Given the description of an element on the screen output the (x, y) to click on. 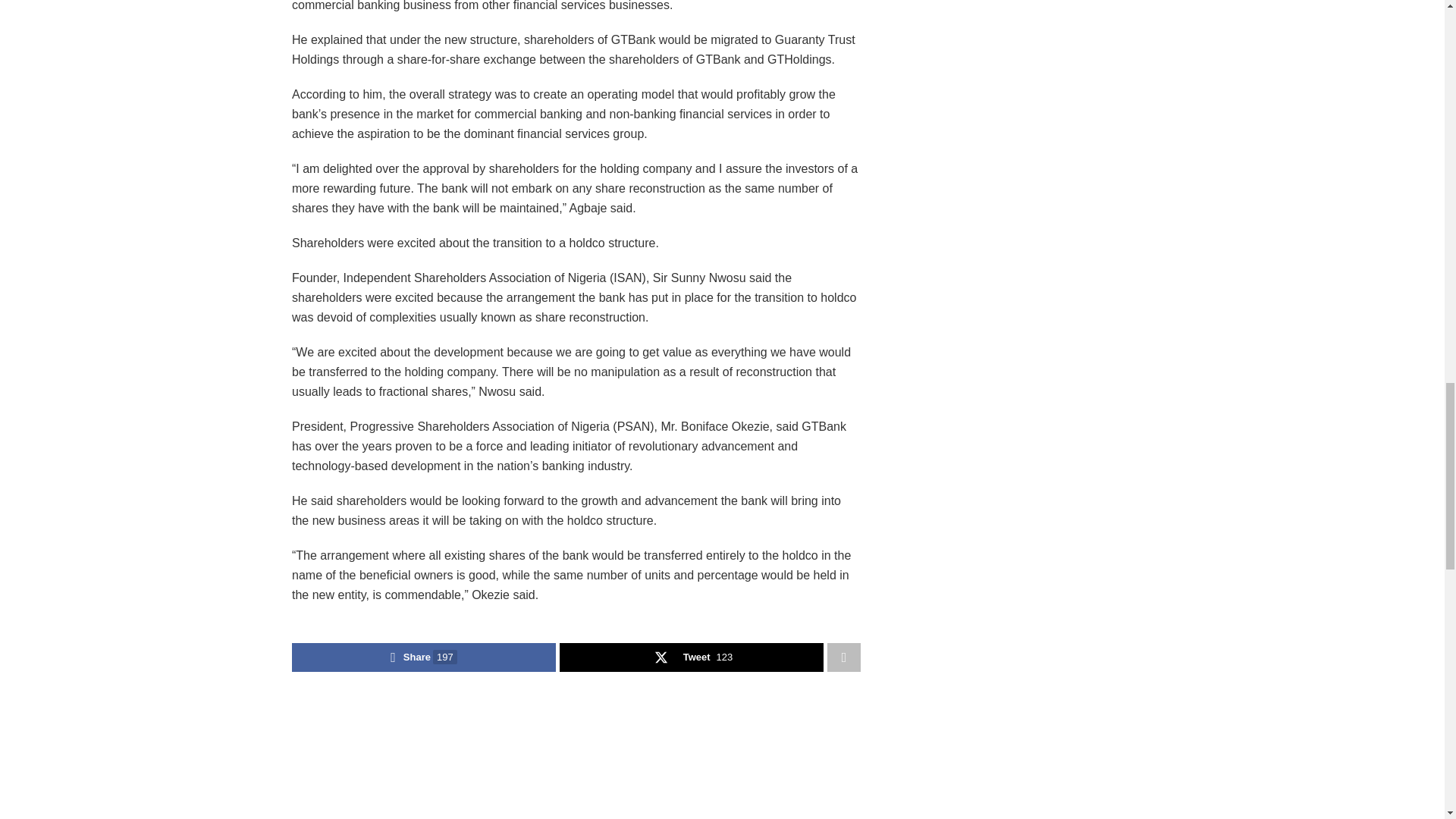
Advertisement (576, 758)
